Given the description of an element on the screen output the (x, y) to click on. 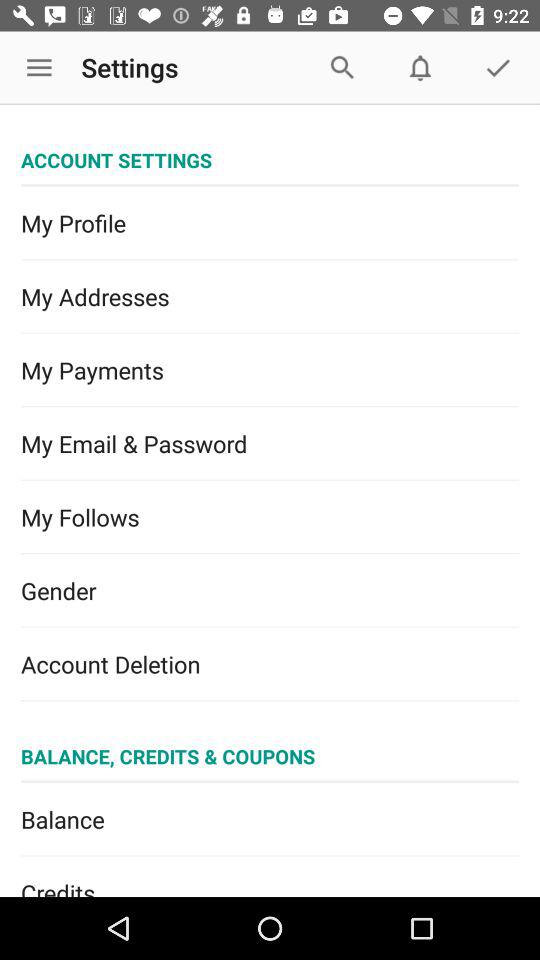
turn on item below the my addresses icon (270, 370)
